Given the description of an element on the screen output the (x, y) to click on. 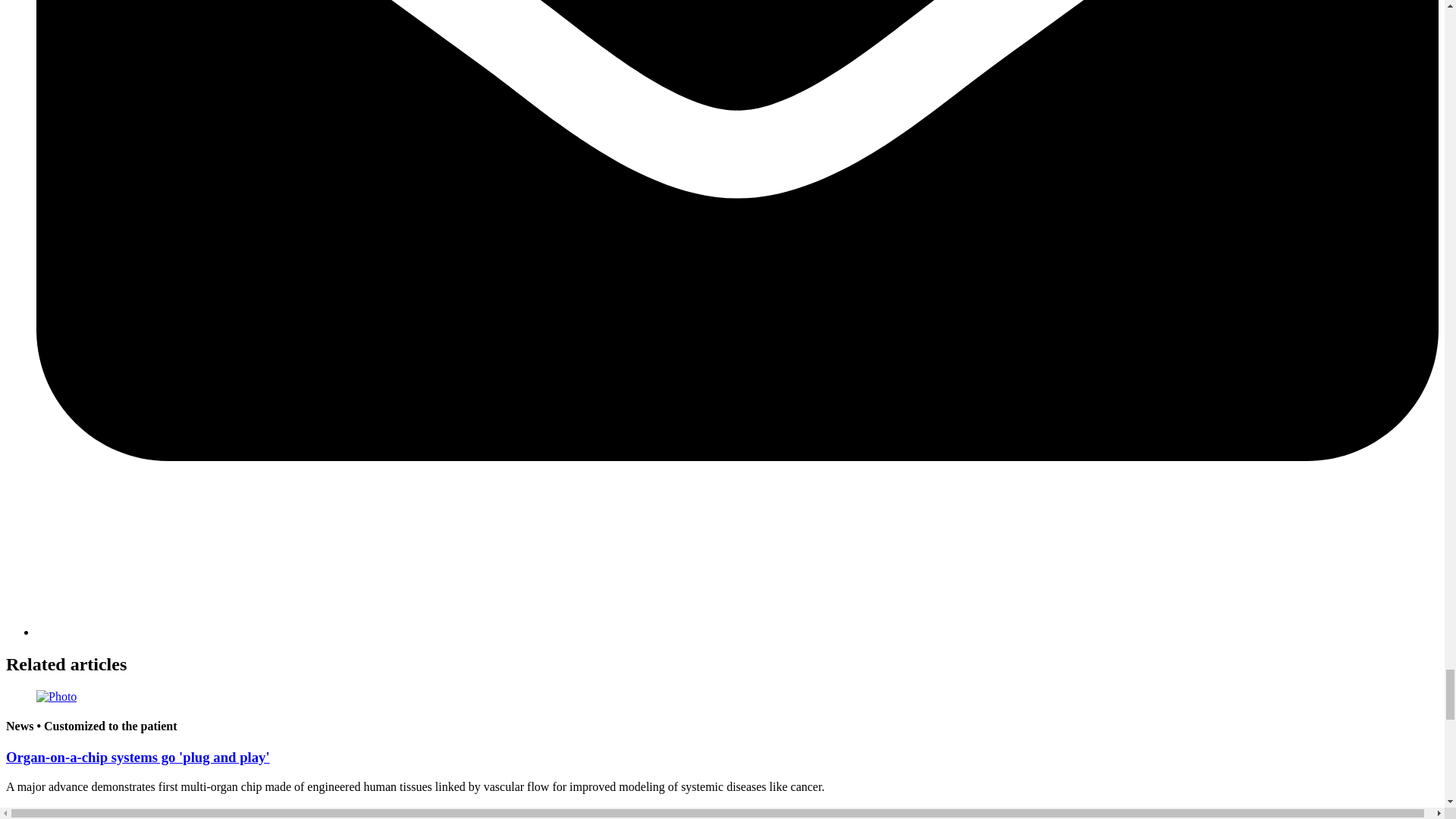
Organ-on-a-chip systems go 'plug and play' (137, 756)
Organ-on-a-chip systems go 'plug and play' (137, 756)
